Given the description of an element on the screen output the (x, y) to click on. 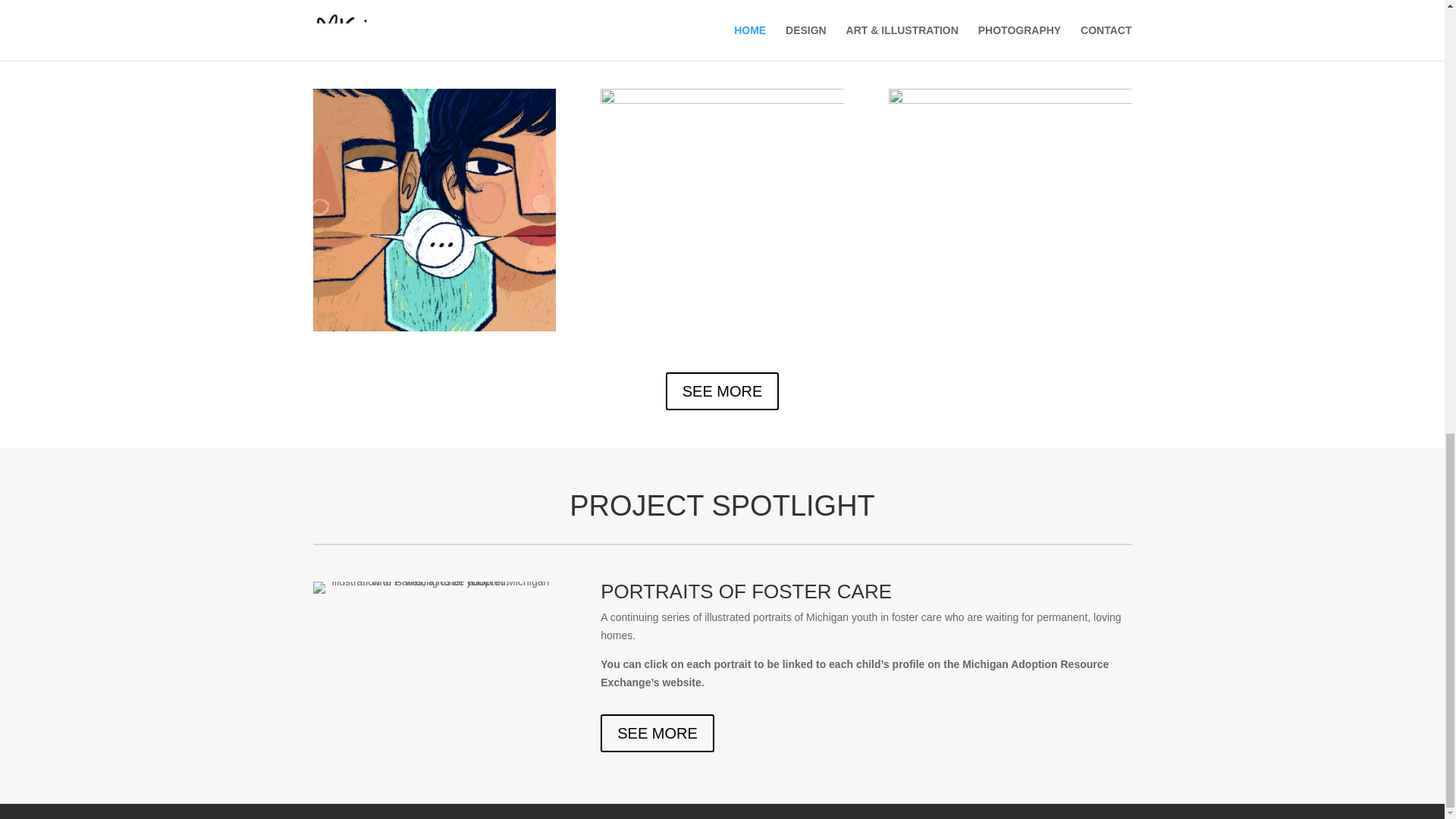
sun (721, 209)
parris-700w (433, 587)
SEE MORE (721, 391)
SEE MORE (656, 733)
sun (1009, 209)
